Given the description of an element on the screen output the (x, y) to click on. 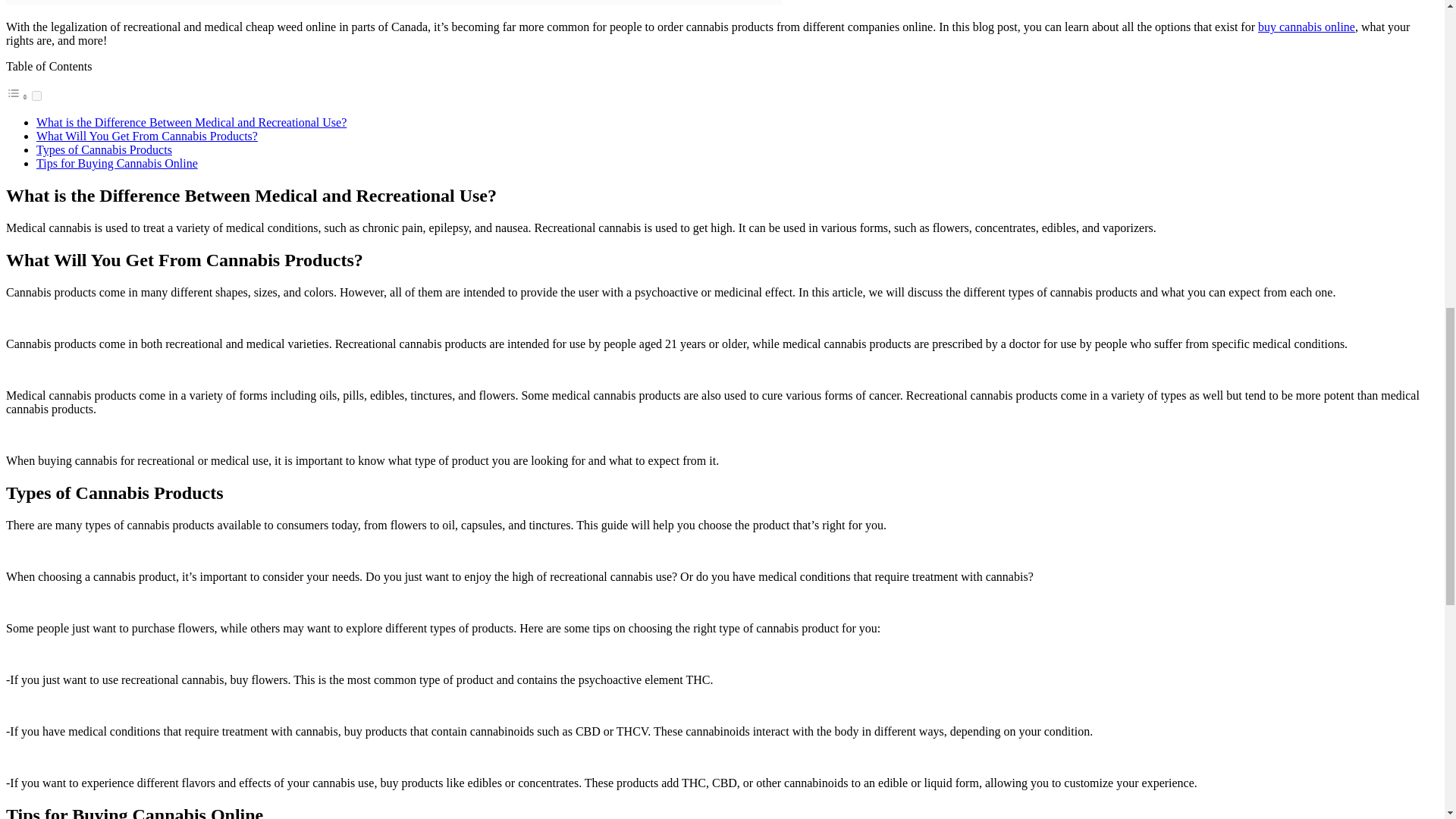
What Will You Get From Cannabis Products? (146, 135)
Tips for Buying Cannabis Online (117, 163)
on (37, 95)
What is the Difference Between Medical and Recreational Use? (191, 122)
What Will You Get From Cannabis Products? (146, 135)
What is the Difference Between Medical and Recreational Use? (191, 122)
Types of Cannabis Products (103, 149)
buy cannabis online (1306, 26)
Types of Cannabis Products (103, 149)
Tips for Buying Cannabis Online (117, 163)
